Given the description of an element on the screen output the (x, y) to click on. 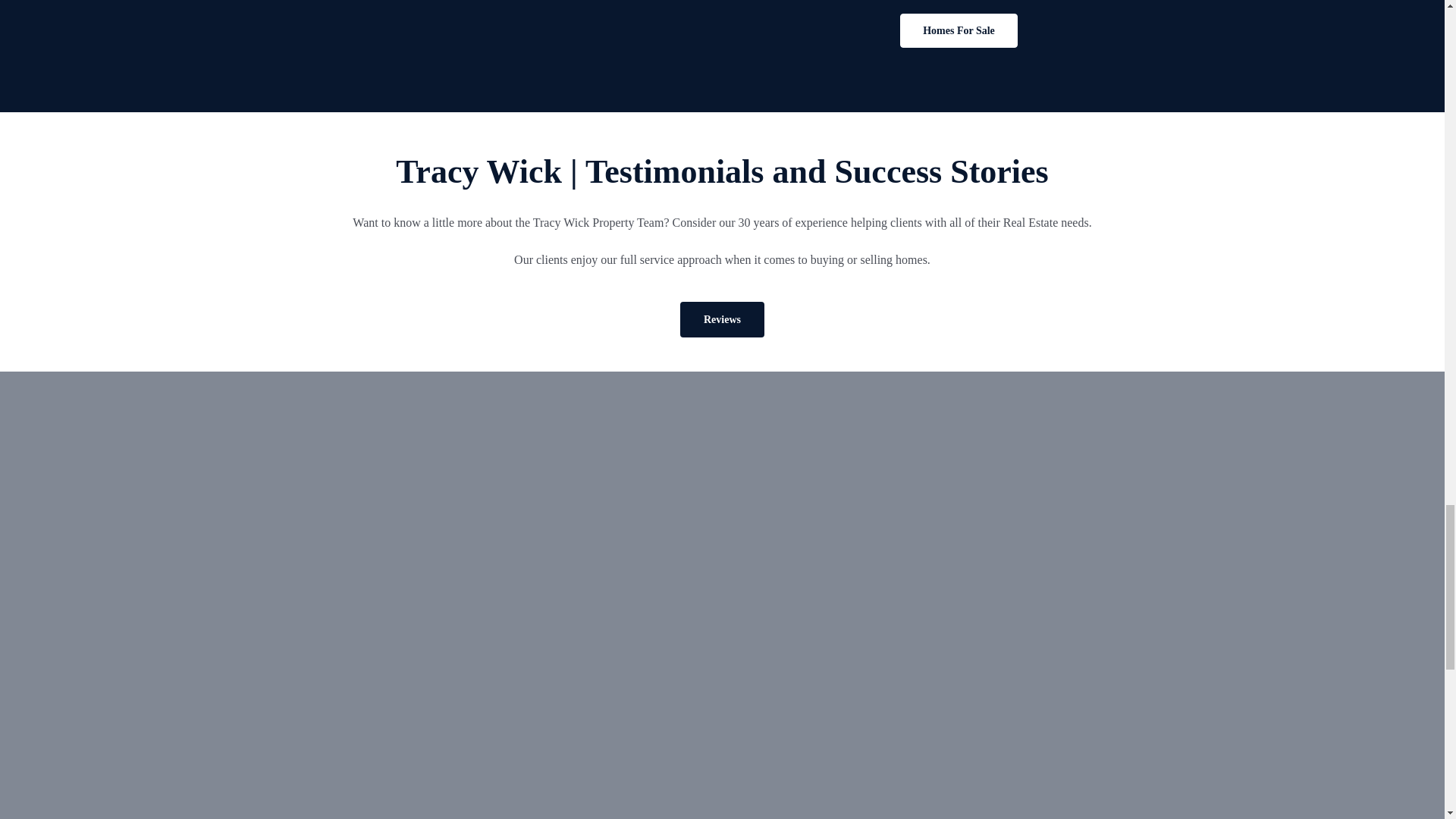
Homes For Sale (958, 30)
Reviews (721, 319)
